Given the description of an element on the screen output the (x, y) to click on. 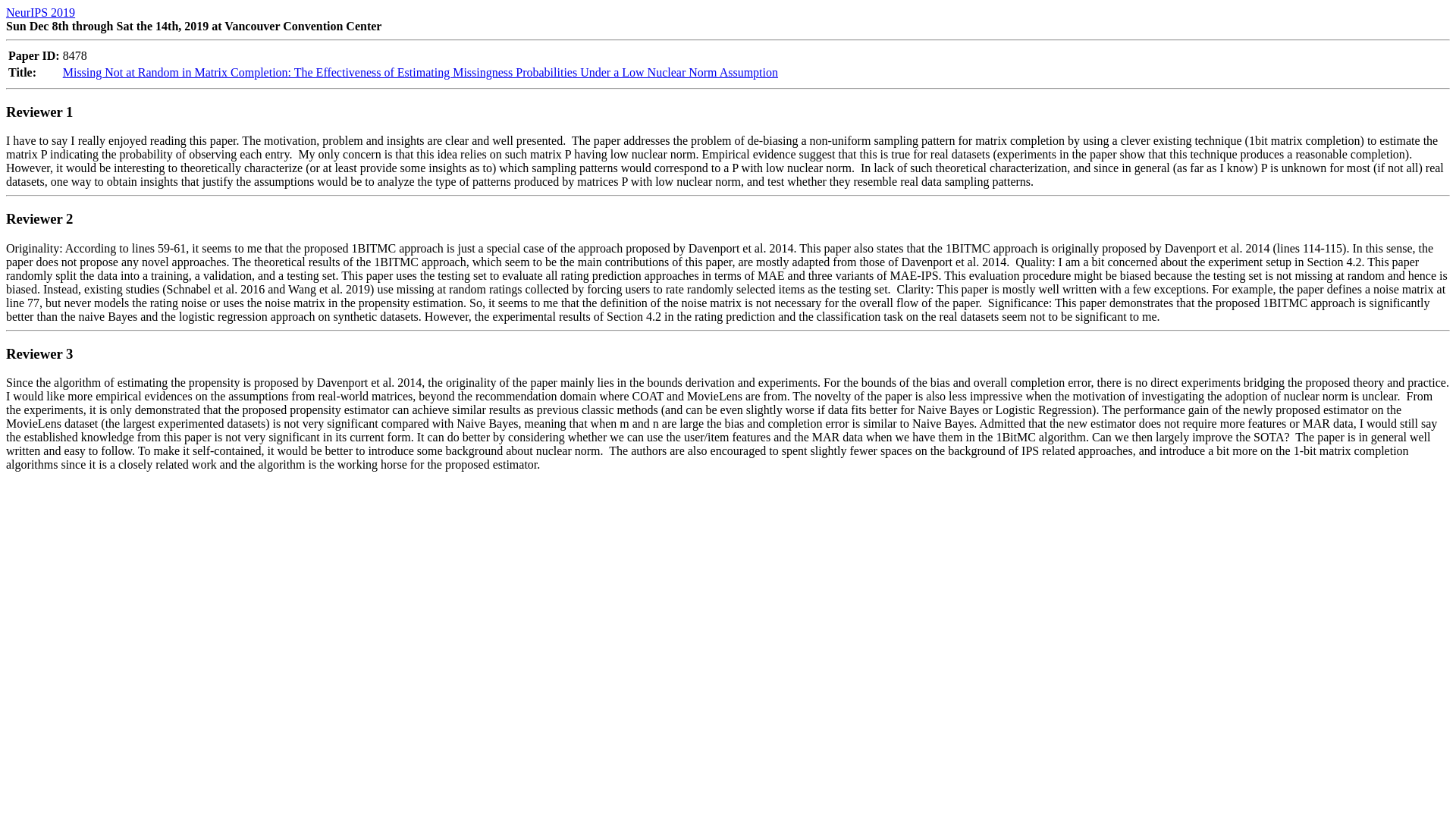
NeurIPS 2019 (40, 11)
